Given the description of an element on the screen output the (x, y) to click on. 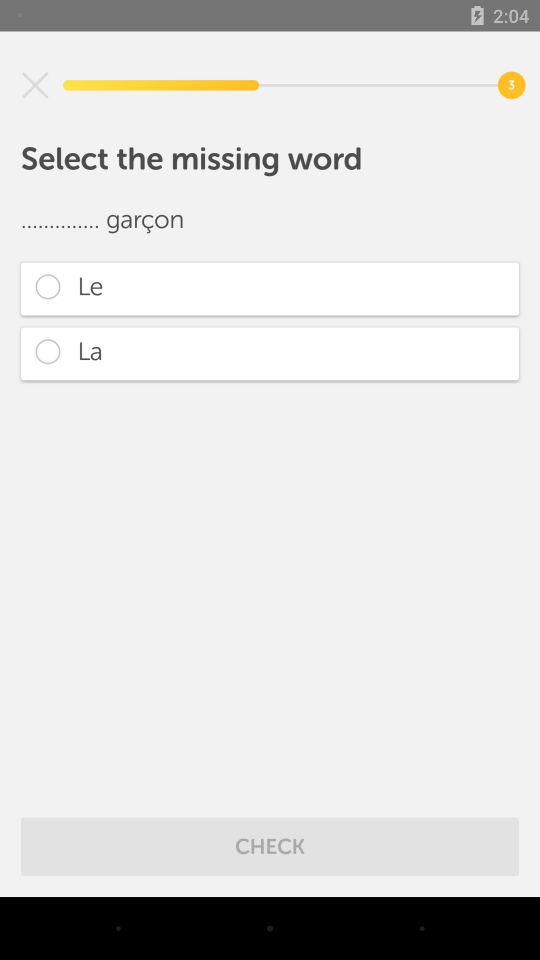
jump until the check (270, 846)
